Given the description of an element on the screen output the (x, y) to click on. 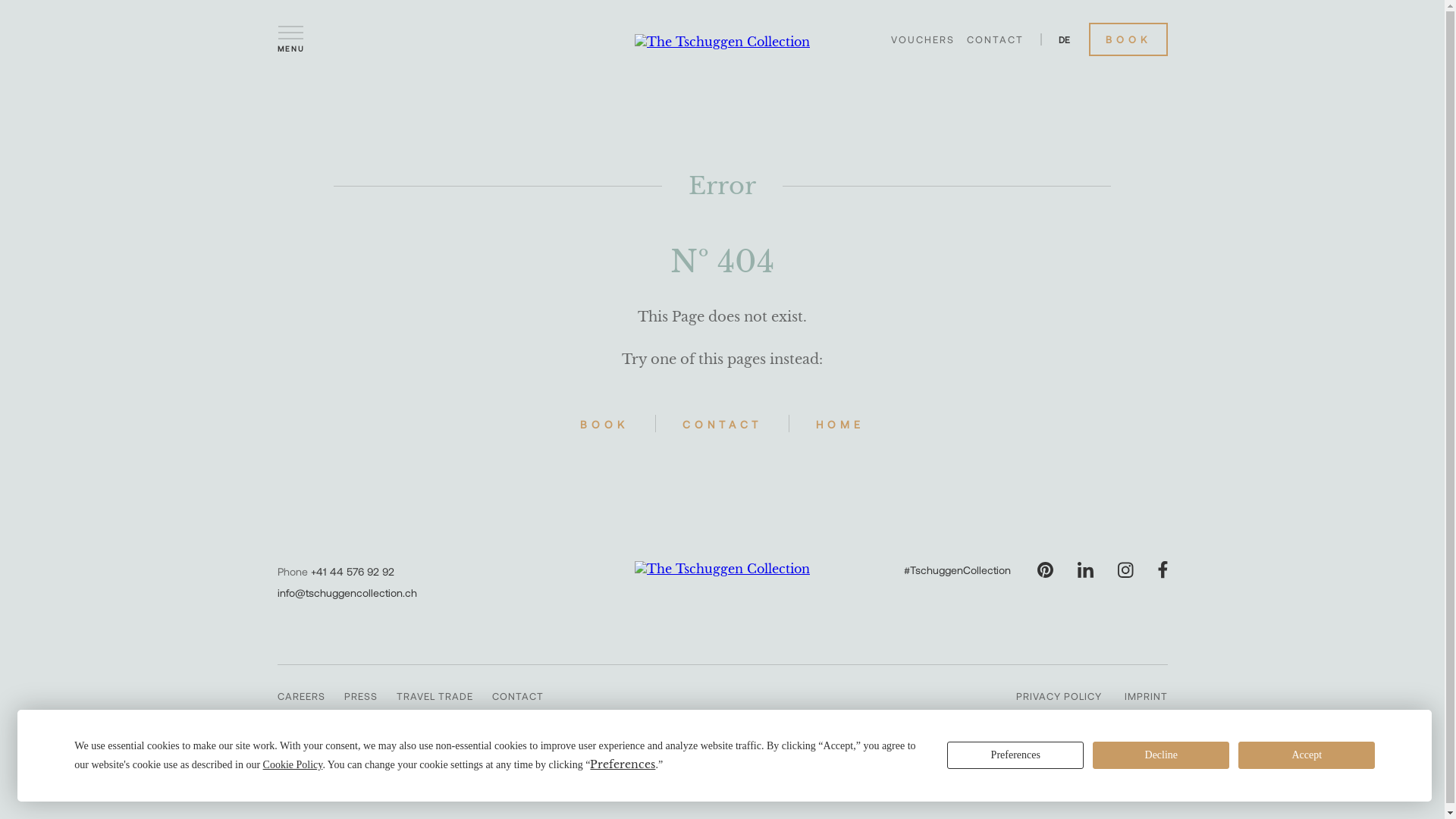
MENU Element type: text (290, 39)
VOUCHERS Element type: text (921, 39)
TRAVEL TRADE Element type: text (433, 696)
info@tschuggencollection.ch Element type: text (347, 592)
BOOK Element type: text (1127, 39)
Preferences Element type: text (163, 761)
DE Element type: text (1064, 39)
CONTACT Element type: text (994, 39)
BOOK Element type: text (604, 423)
Decline Element type: text (309, 761)
PRESS Element type: text (360, 696)
CAREERS Element type: text (301, 696)
CONTACT Element type: text (722, 423)
PRIVACY POLICY Element type: text (1058, 696)
Accept Element type: text (454, 761)
+41 44 576 92 92 Element type: text (352, 570)
IMPRINT Element type: text (1145, 696)
CONTACT Element type: text (516, 696)
HOME Element type: text (839, 423)
